Given the description of an element on the screen output the (x, y) to click on. 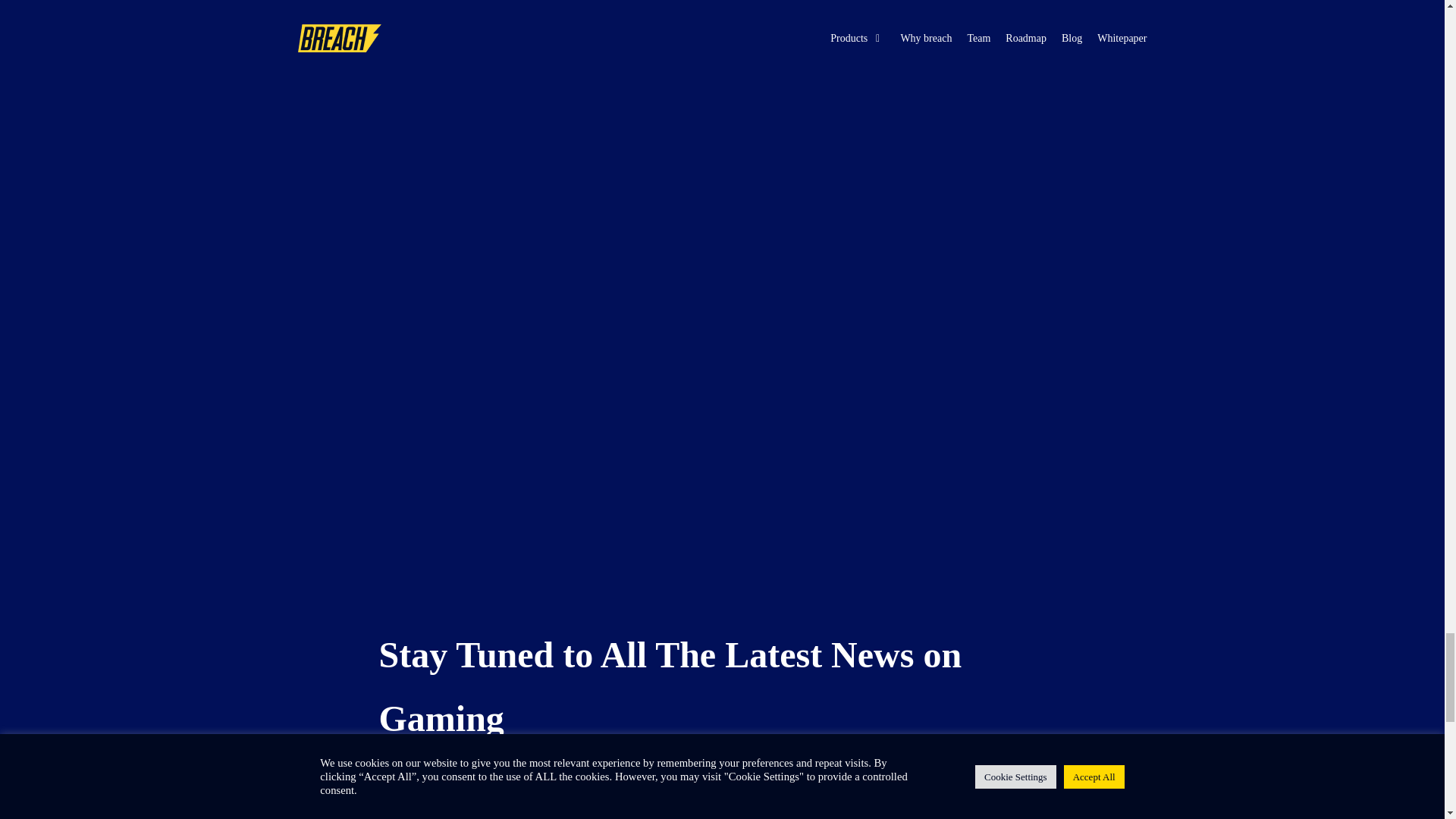
Sign up (832, 773)
